Given the description of an element on the screen output the (x, y) to click on. 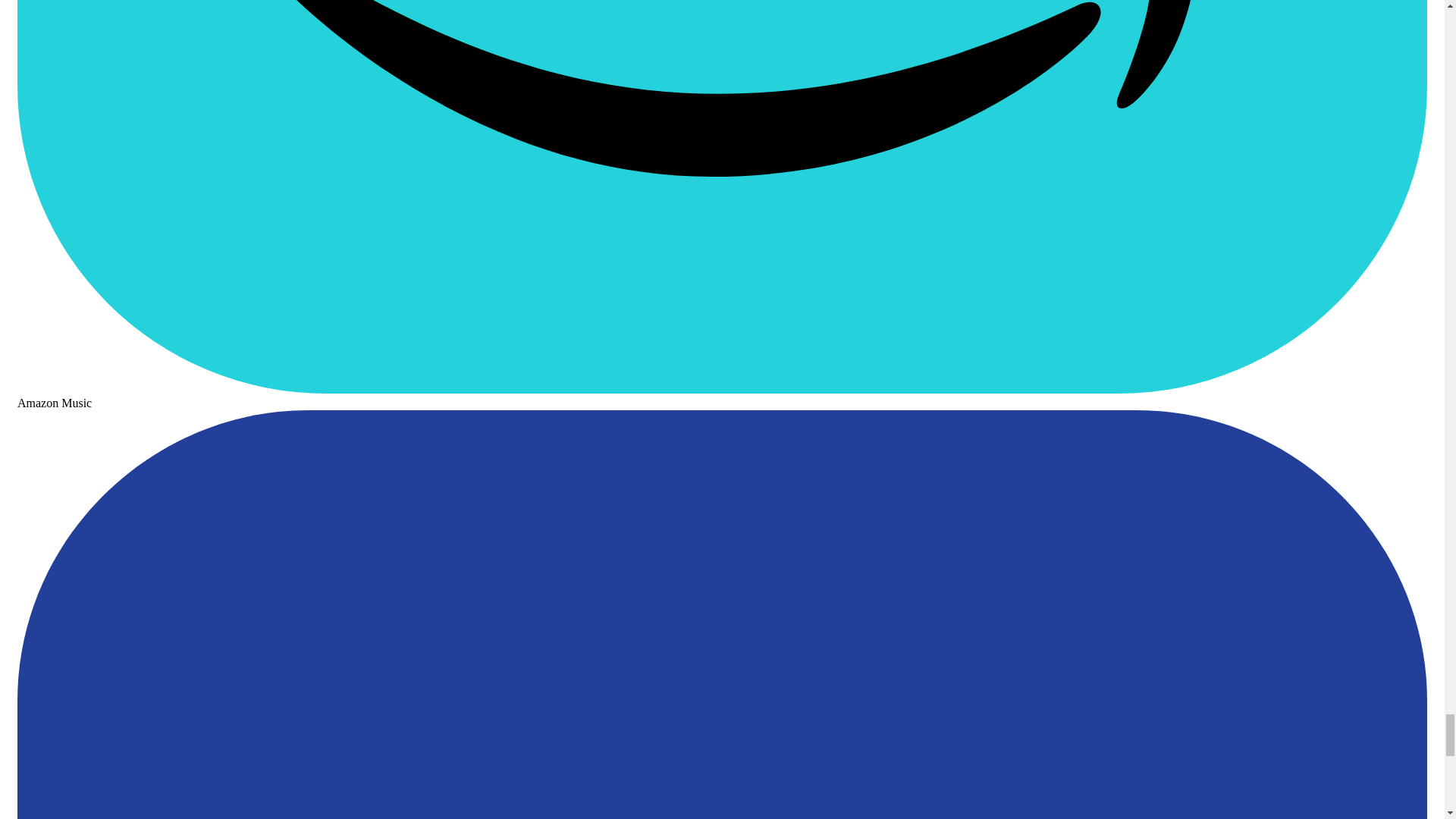
Amazon Music (721, 396)
